Given the description of an element on the screen output the (x, y) to click on. 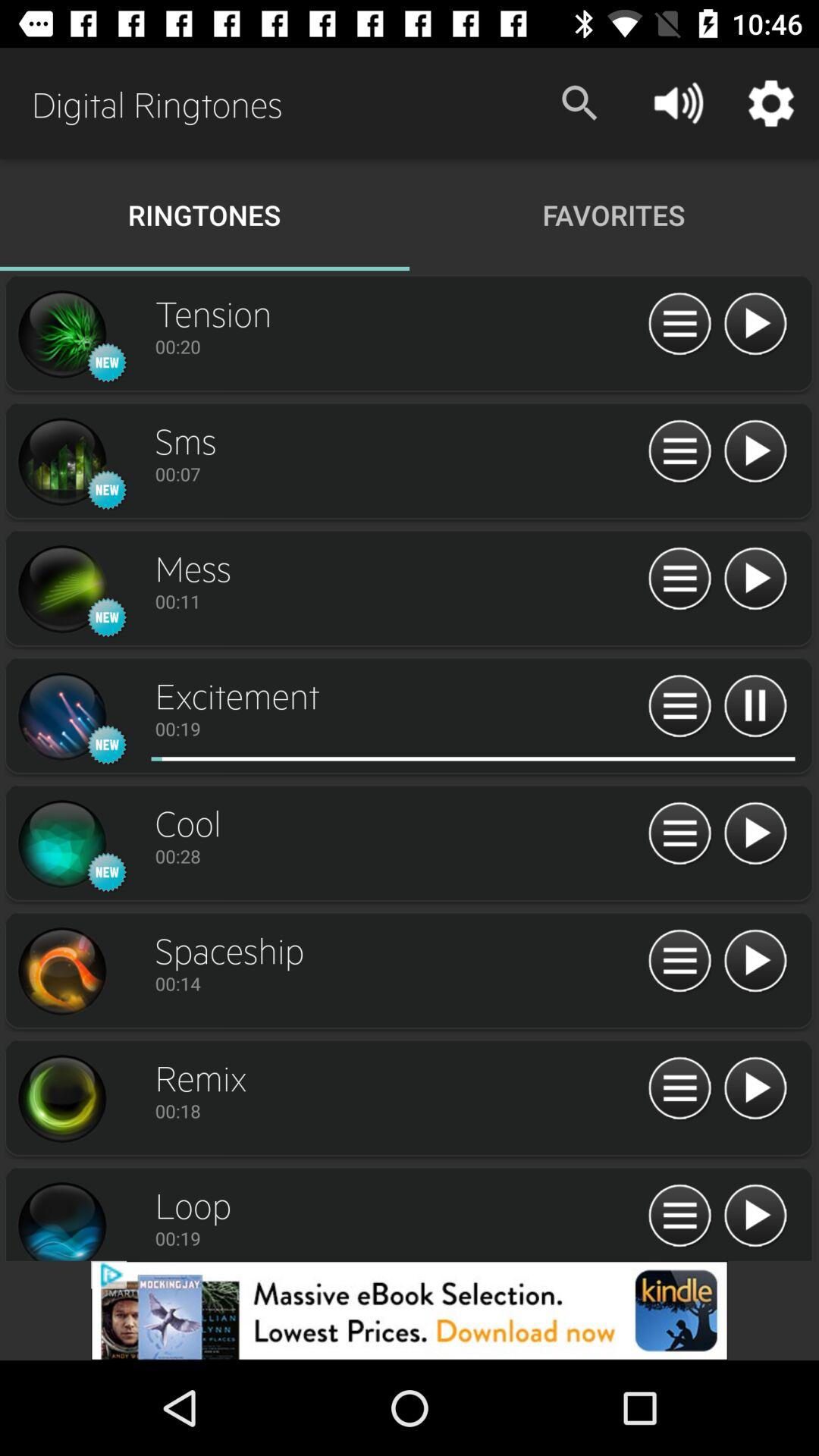
preview song (61, 716)
